Given the description of an element on the screen output the (x, y) to click on. 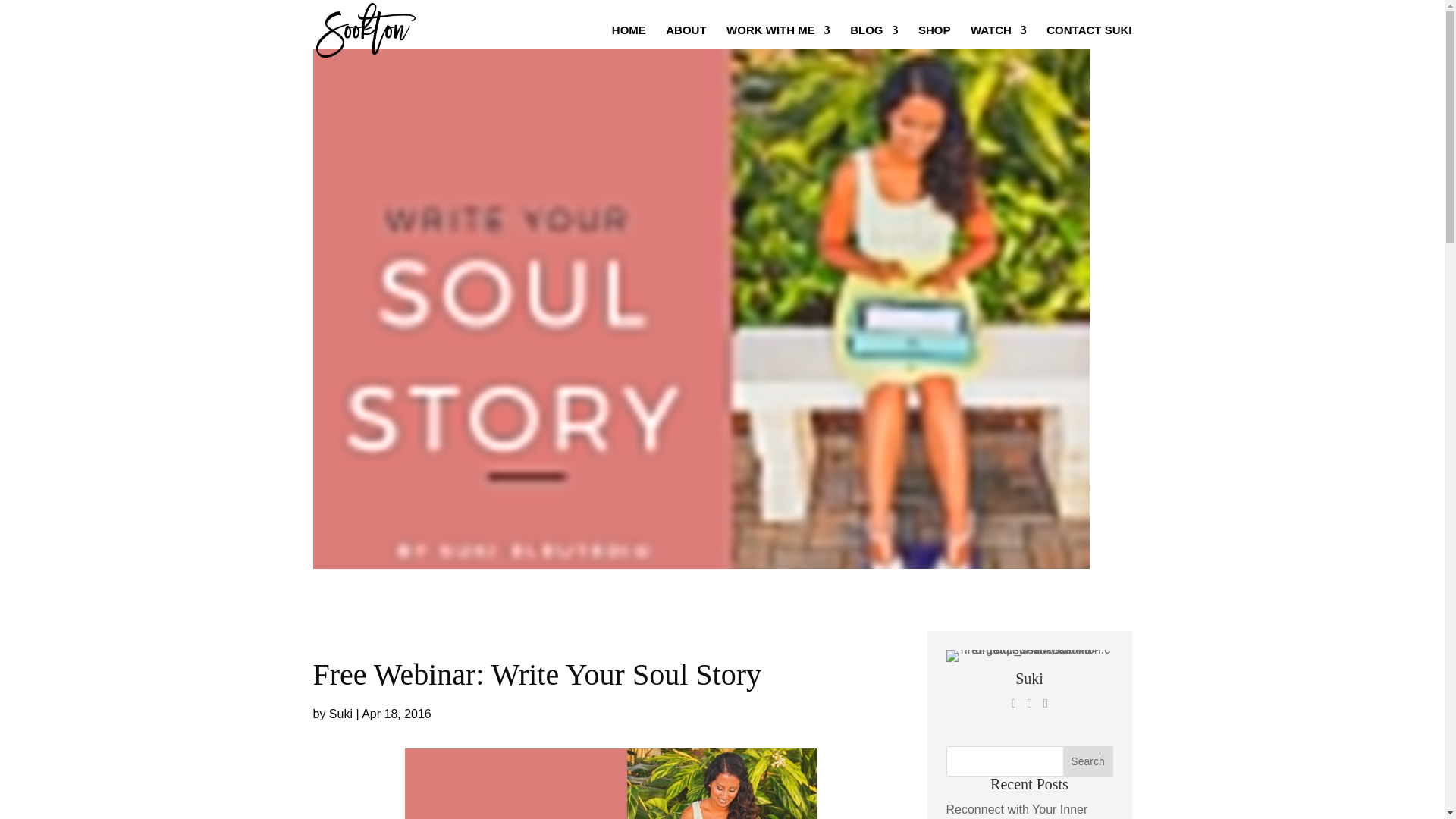
Search (1087, 761)
WORK WITH ME (777, 42)
Suki (1028, 678)
CONTACT SUKI (1088, 42)
BLOG (874, 42)
HOME (628, 42)
Posts by Suki (340, 713)
SHOP (934, 42)
WATCH (998, 42)
